Given the description of an element on the screen output the (x, y) to click on. 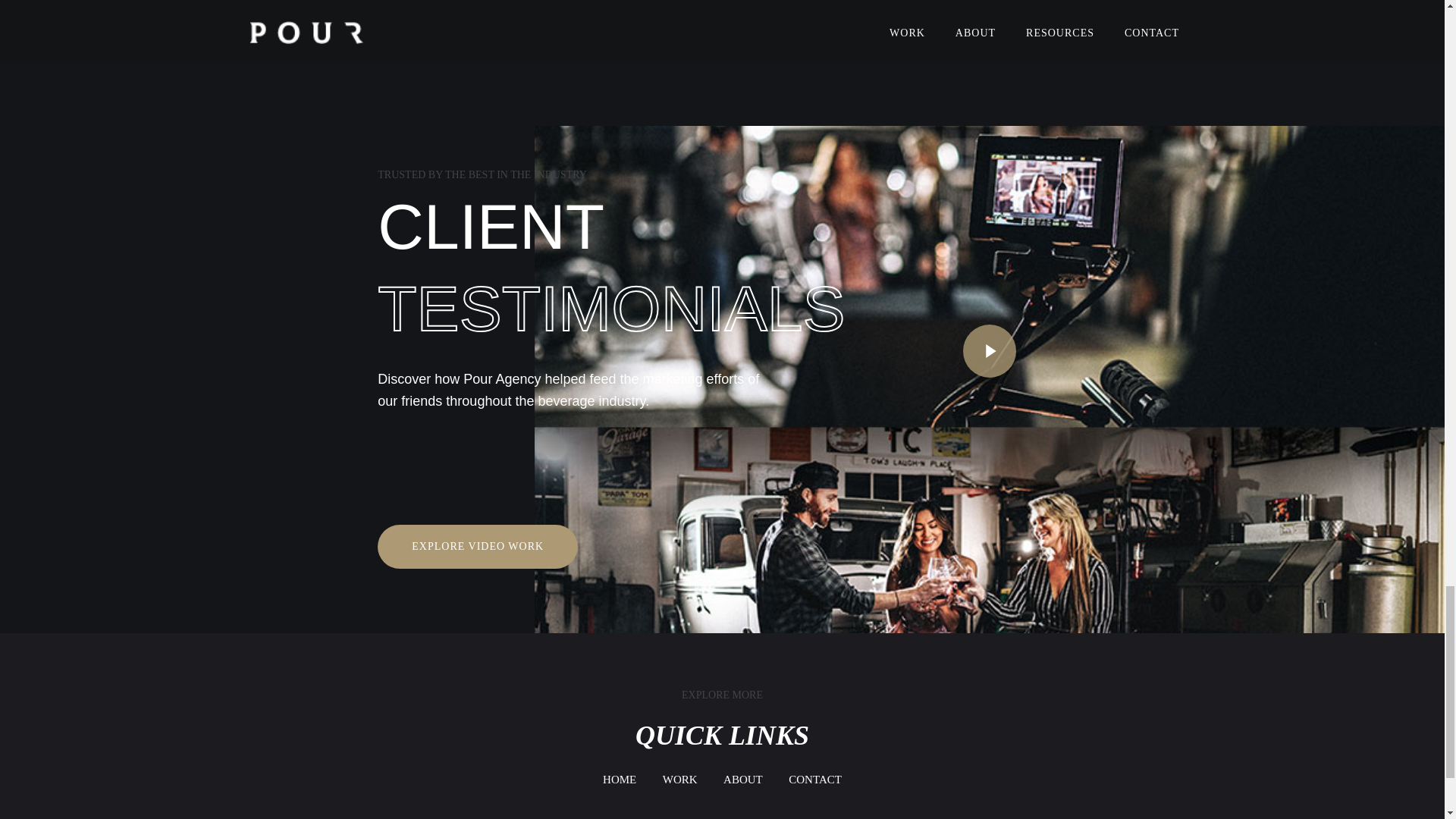
HOME (619, 779)
WORK (679, 779)
CONTACT (815, 779)
EXPLORE VIDEO WORK (477, 546)
ABOUT (742, 779)
